Given the description of an element on the screen output the (x, y) to click on. 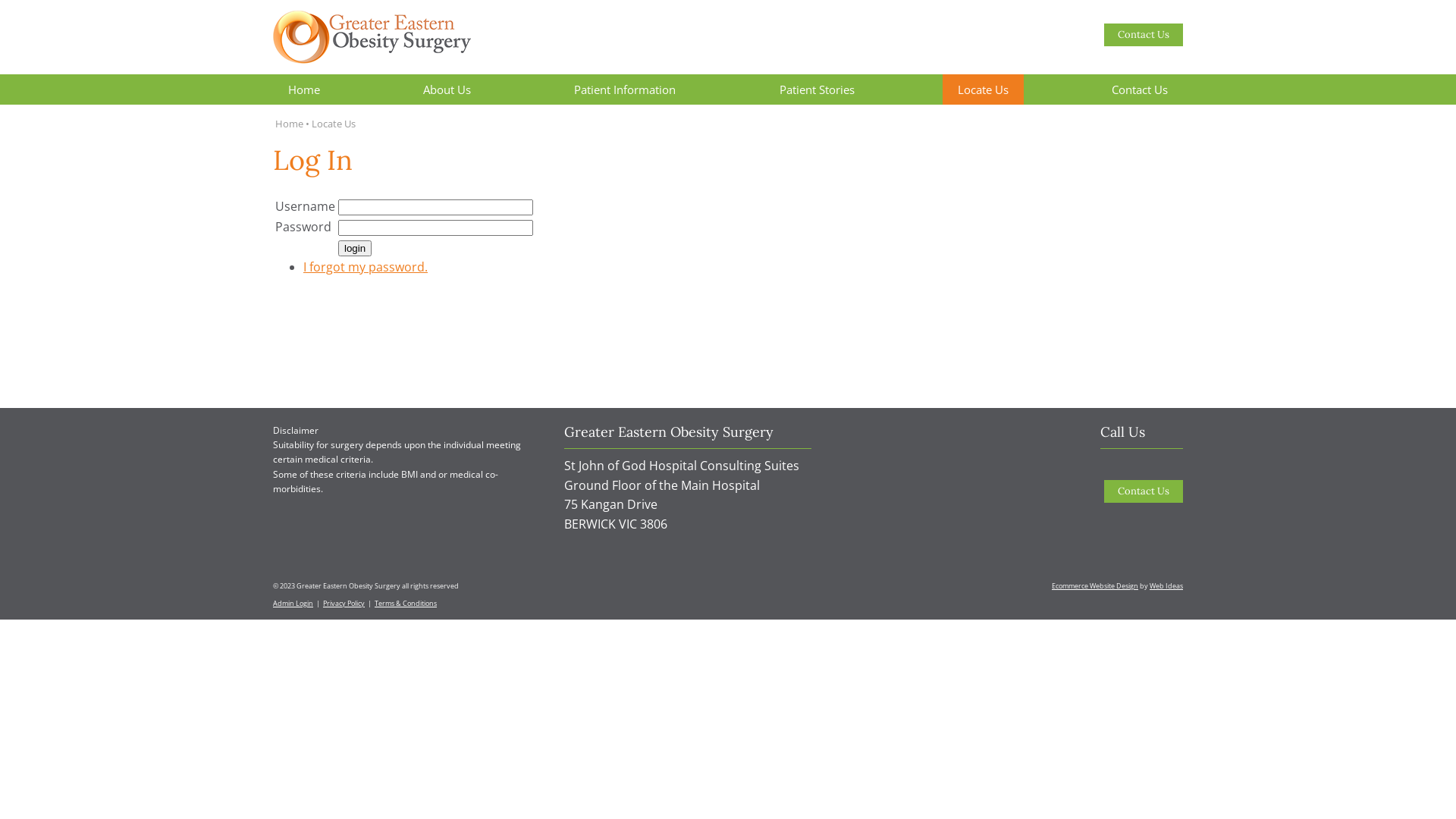
Ecommerce Website Design Element type: text (1094, 585)
Contact Us Element type: text (1143, 34)
Contact Us Element type: text (1143, 491)
Home Element type: text (289, 123)
Patient Stories Element type: text (816, 89)
login Element type: text (354, 248)
Locate Us Element type: text (333, 123)
Home Element type: text (304, 89)
Terms & Conditions Element type: text (405, 603)
Contact Us Element type: text (1139, 89)
About Us Element type: text (446, 89)
Web Ideas Element type: text (1166, 585)
I forgot my password. Element type: text (365, 266)
Privacy Policy Element type: text (343, 603)
Locate Us Element type: text (982, 89)
Patient Information Element type: text (624, 89)
Admin Login Element type: text (293, 603)
